Given the description of an element on the screen output the (x, y) to click on. 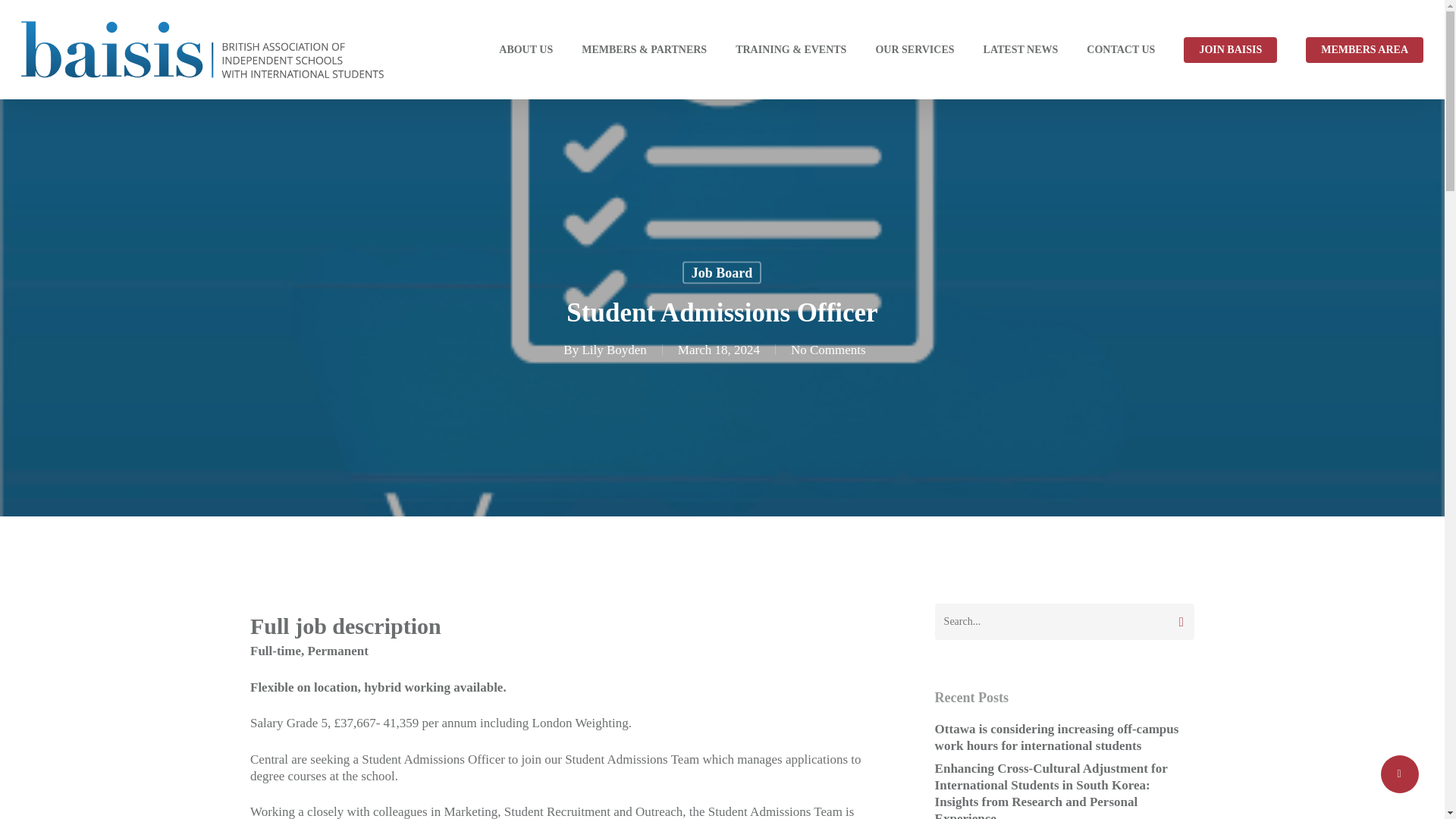
MEMBERS AREA (1364, 49)
ABOUT US (525, 49)
CONTACT US (1120, 49)
Search for: (1063, 621)
Posts by Lily Boyden (613, 350)
No Comments (828, 350)
OUR SERVICES (914, 49)
Job Board (721, 272)
LATEST NEWS (1021, 49)
Lily Boyden (613, 350)
JOIN BAISIS (1229, 49)
